Given the description of an element on the screen output the (x, y) to click on. 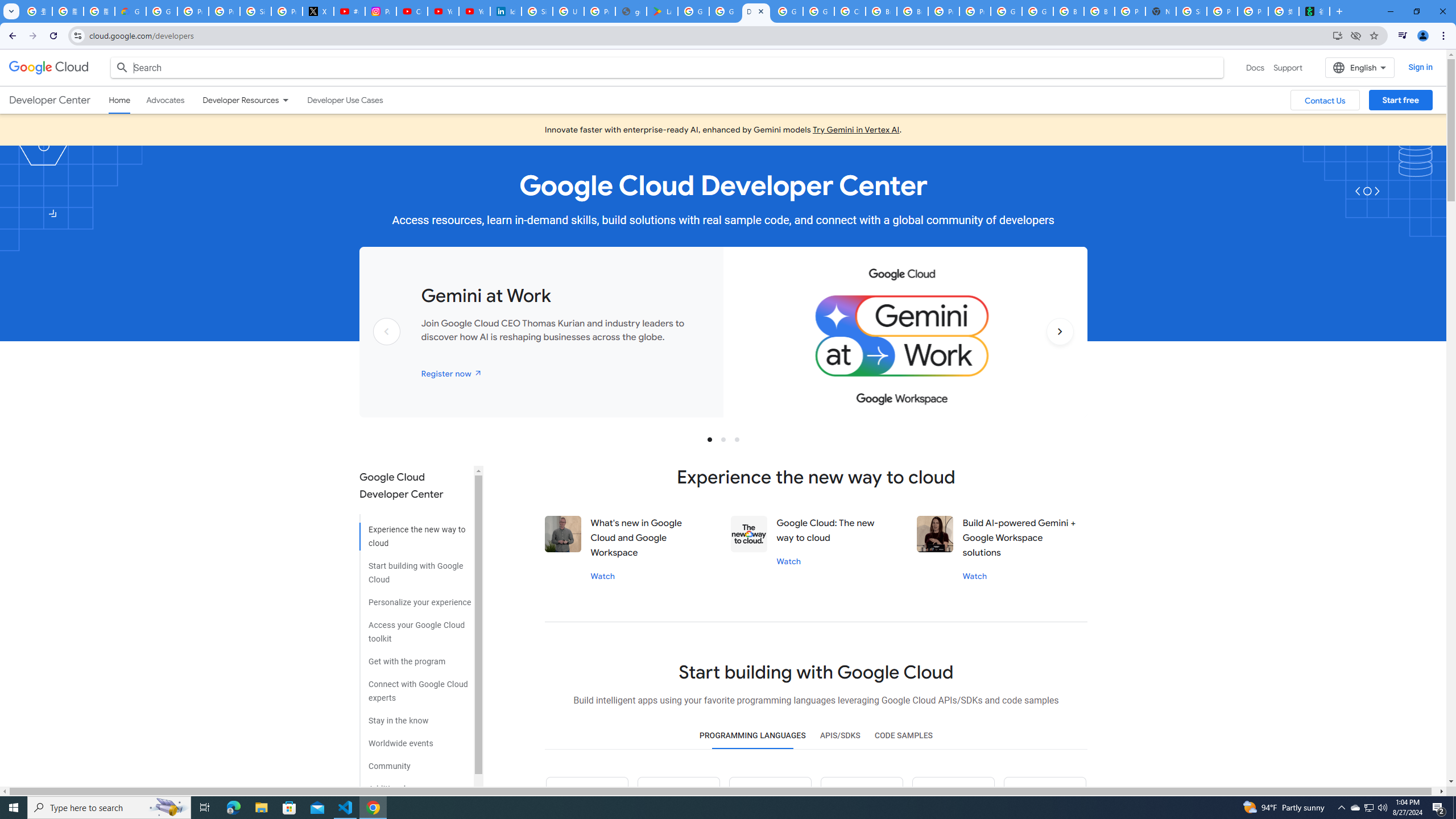
Access your Google Cloud toolkit (415, 627)
Next slide (1059, 349)
Dropdown menu for Developer Resources (285, 99)
Advocates (165, 99)
Google Cloud Platform (787, 11)
Additional resources (415, 784)
Ruby icon (860, 798)
Python icon (587, 798)
Previous slide (386, 349)
Home, selected (119, 99)
